Given the description of an element on the screen output the (x, y) to click on. 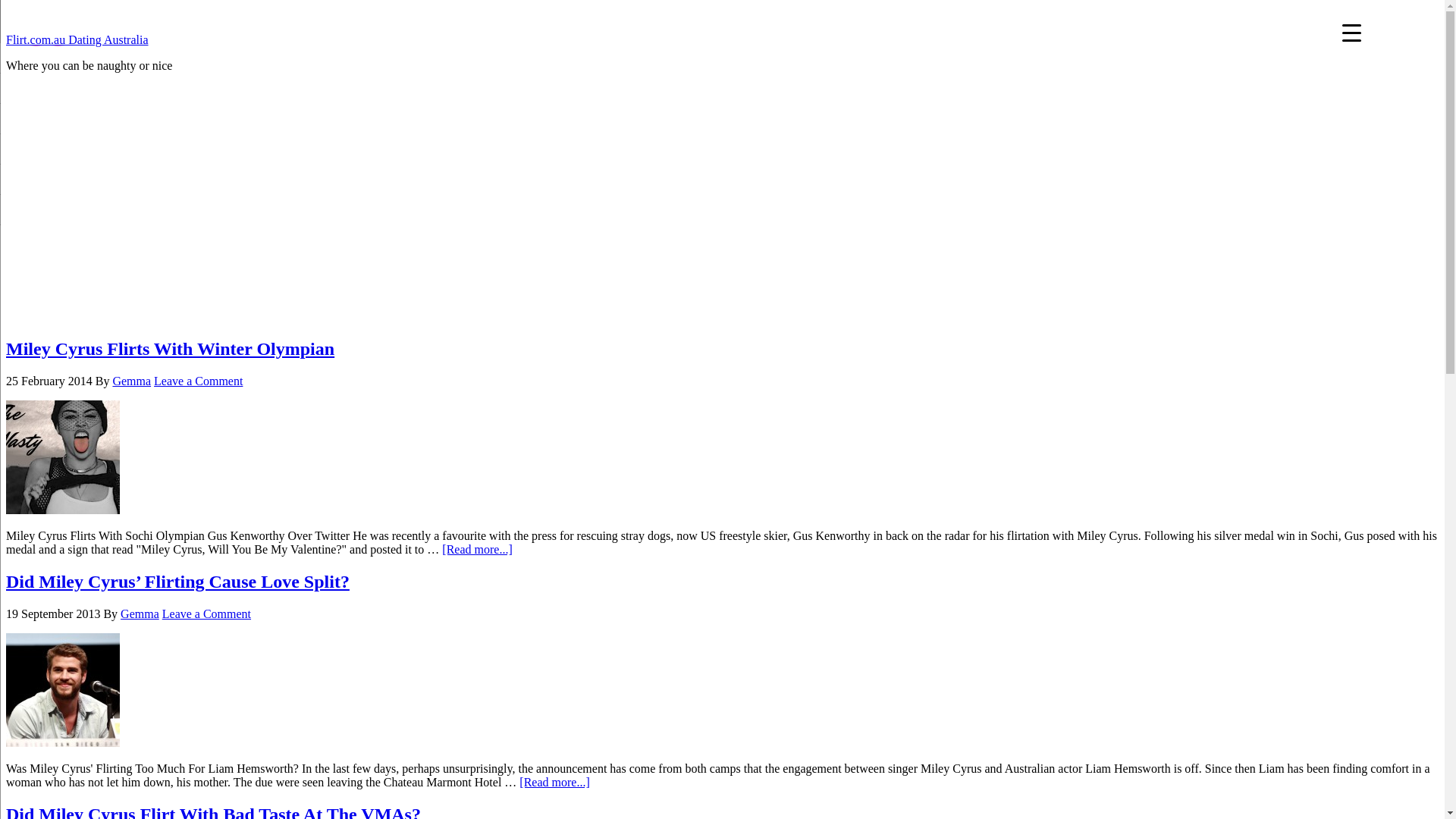
Miley Cyrus Flirts With Winter Olympian Element type: text (170, 348)
[Read more...] Element type: text (554, 781)
Leave a Comment Element type: text (206, 613)
Advertisement Element type: hover (721, 217)
Gemma Element type: text (139, 613)
Flirt.com.au Dating Australia Element type: text (77, 39)
Leave a Comment Element type: text (197, 380)
Gemma Element type: text (131, 380)
[Read more...] Element type: text (476, 548)
